Given the description of an element on the screen output the (x, y) to click on. 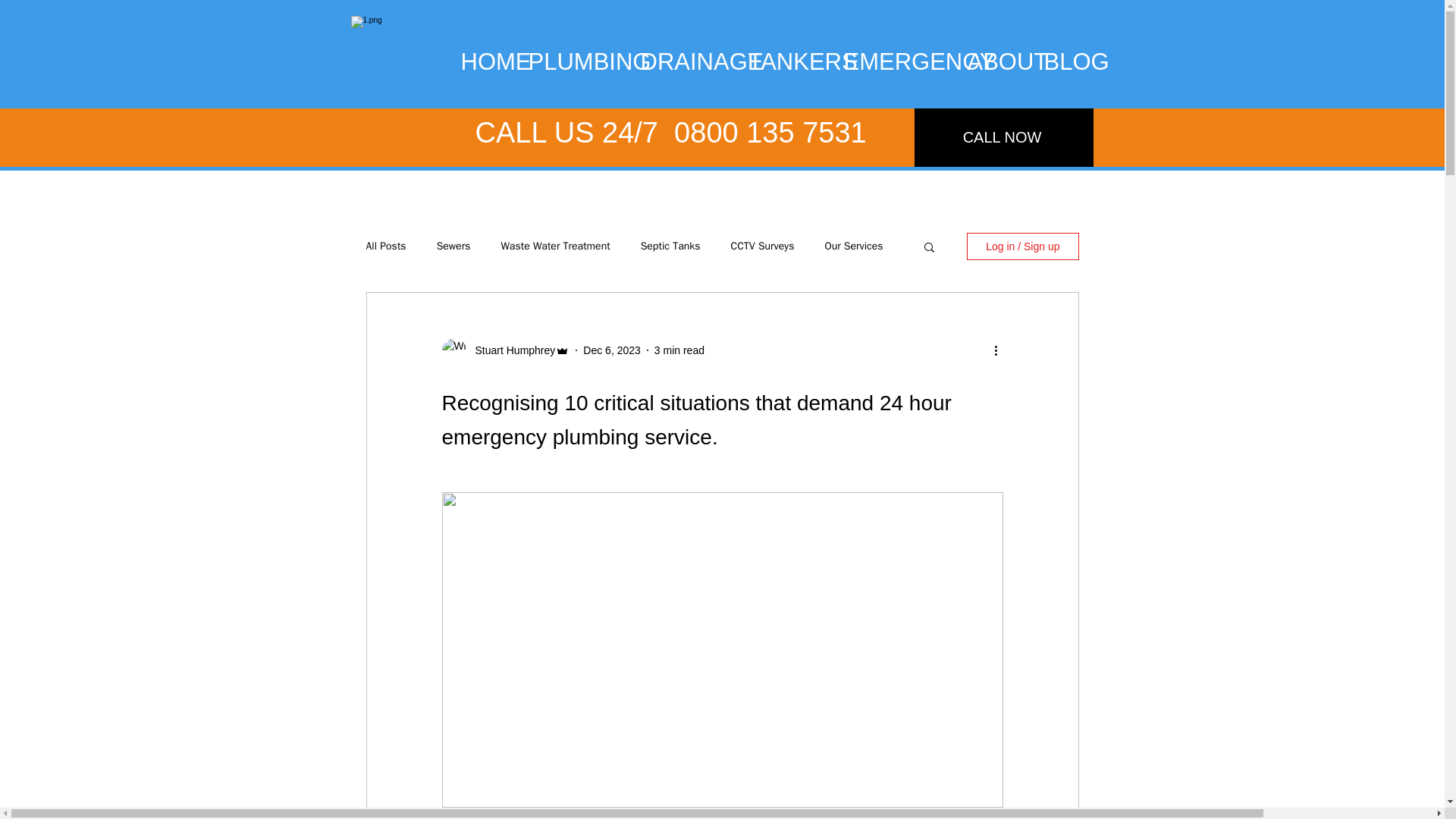
PLUMBING (575, 62)
Dec 6, 2023 (611, 349)
Waste Water Treatment (555, 246)
Sewers (453, 246)
EMERGENCY (897, 62)
3 min read (678, 349)
All Posts (385, 246)
CALL NOW (1003, 137)
CCTV Surveys (762, 246)
BLOG (1067, 62)
